Given the description of an element on the screen output the (x, y) to click on. 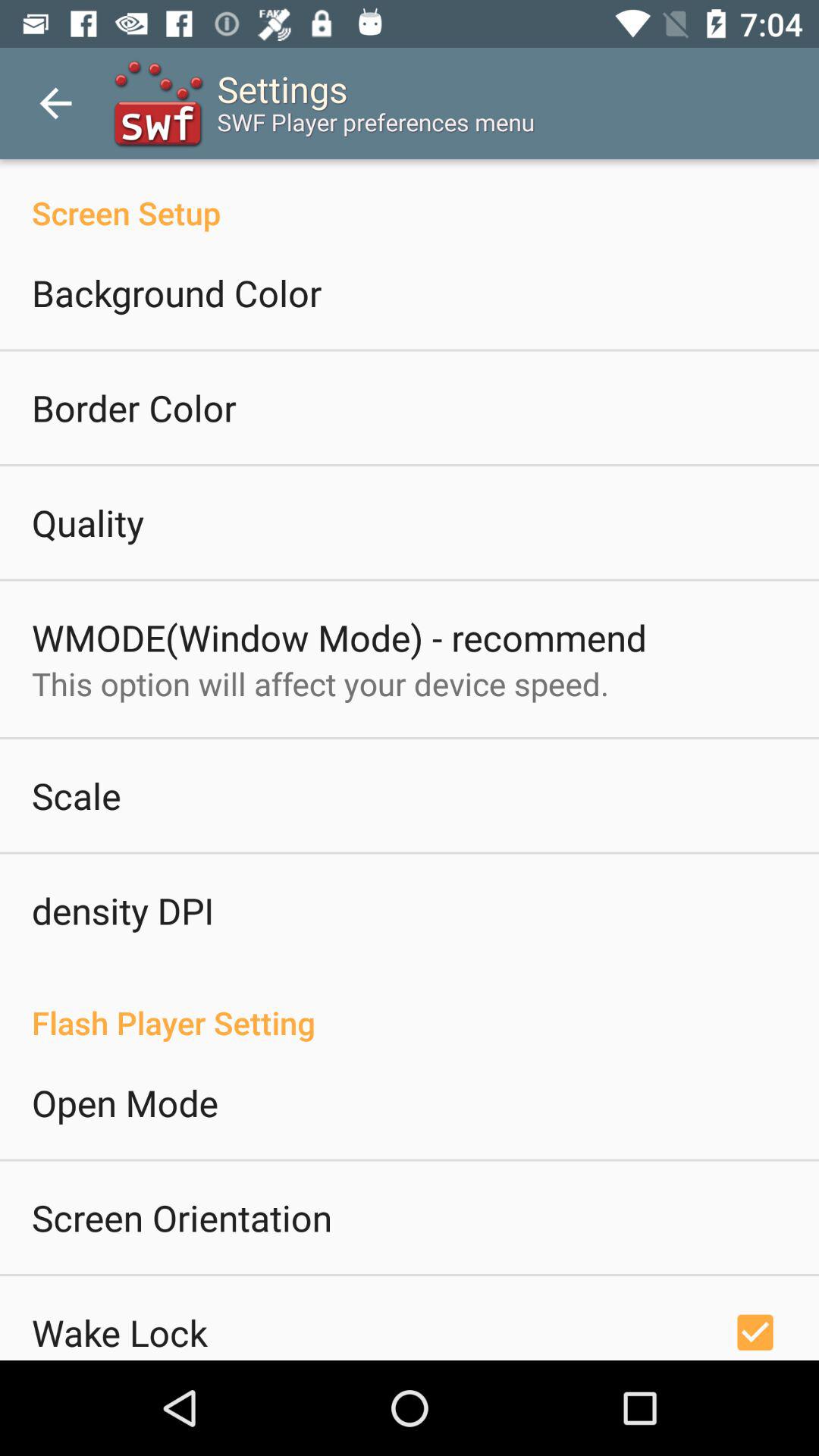
press icon below border color (87, 522)
